Given the description of an element on the screen output the (x, y) to click on. 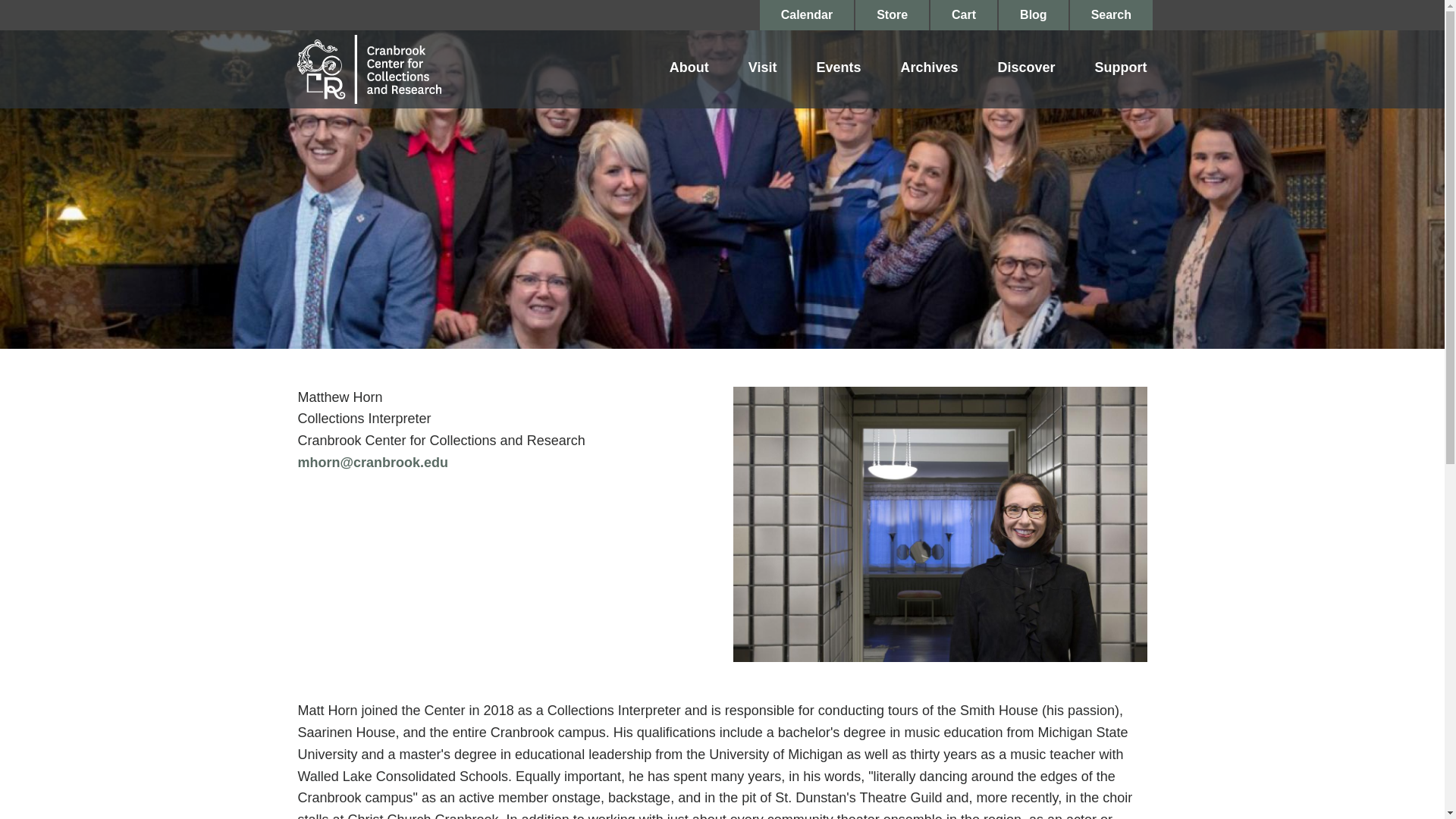
Blog (1033, 15)
 Home (369, 68)
Cart (963, 15)
Store (892, 15)
Calendar (806, 15)
About (689, 69)
Archives (928, 69)
Events (837, 69)
Visit (762, 69)
Search (1111, 15)
